Given the description of an element on the screen output the (x, y) to click on. 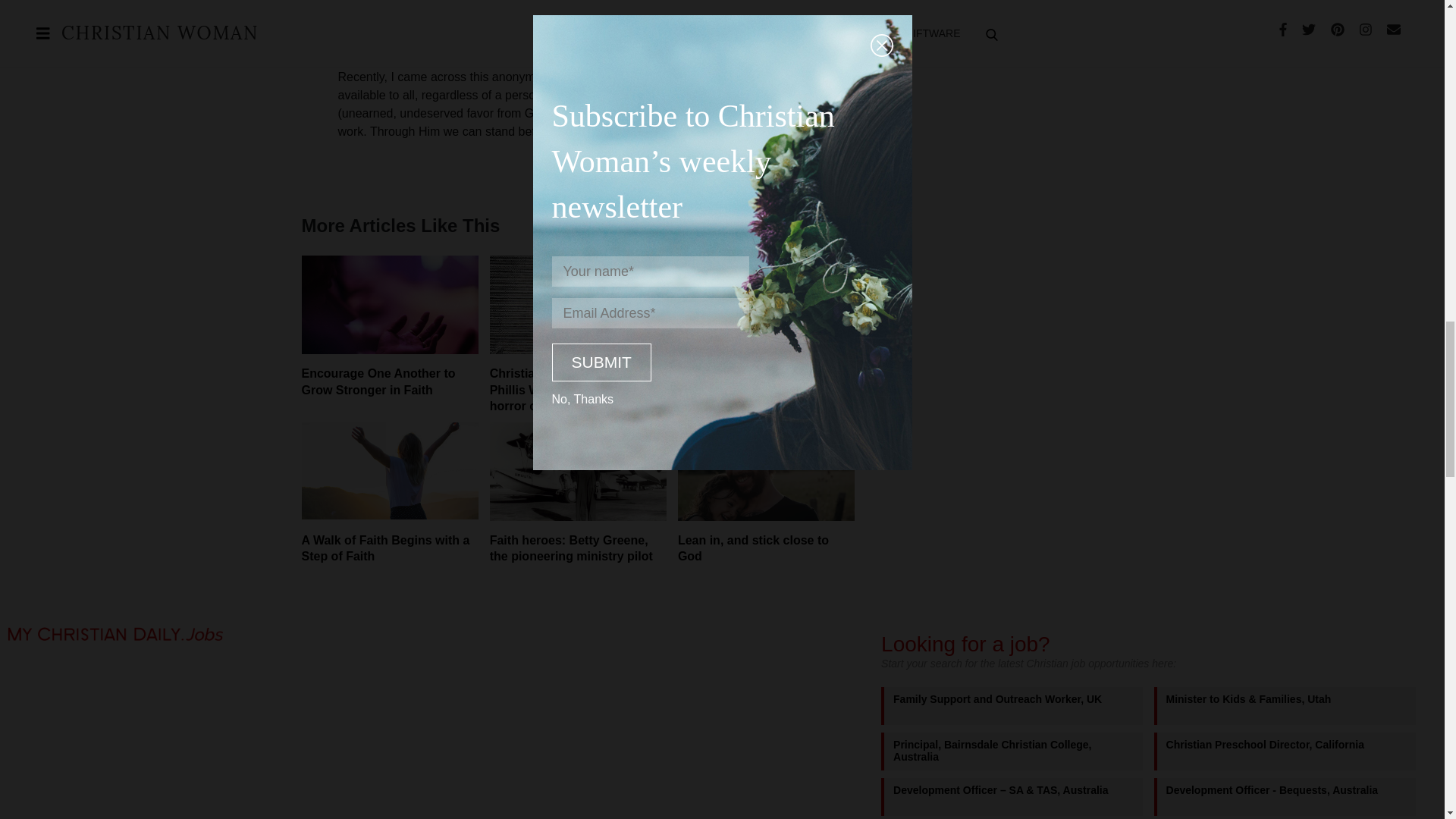
Encourage One Another to Grow Stronger in Faith (378, 381)
A Walk of Faith Begins with a Step of Faith (385, 548)
